Given the description of an element on the screen output the (x, y) to click on. 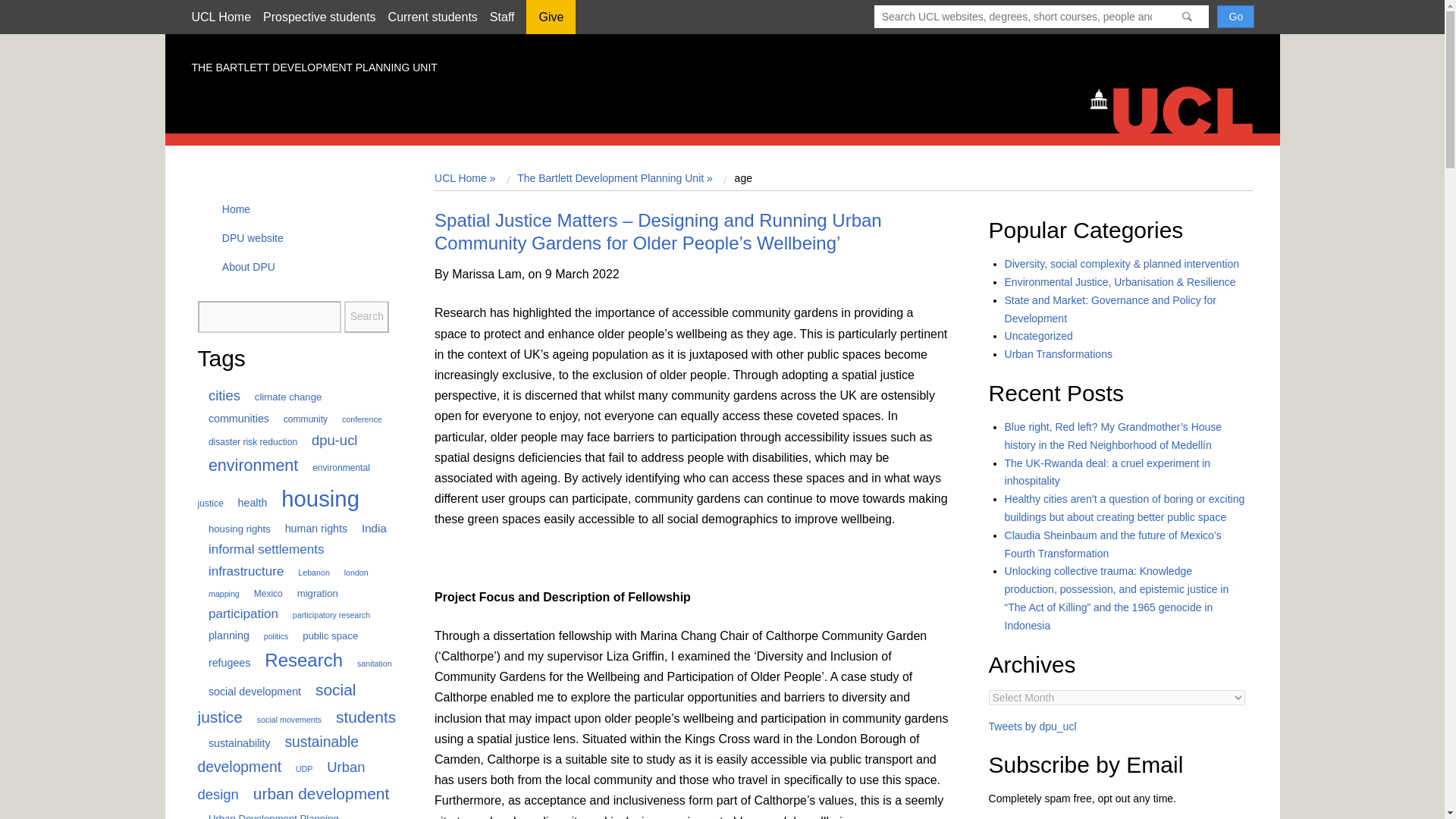
Search (365, 316)
DPU website (247, 237)
communities (231, 418)
mapping (217, 593)
Prospective students (319, 16)
public space (325, 635)
UCL Home (220, 16)
health (246, 502)
Staff (502, 16)
infrastructure (239, 571)
Current students (432, 16)
climate change (282, 396)
participation (237, 613)
london (350, 572)
Search (365, 316)
